Given the description of an element on the screen output the (x, y) to click on. 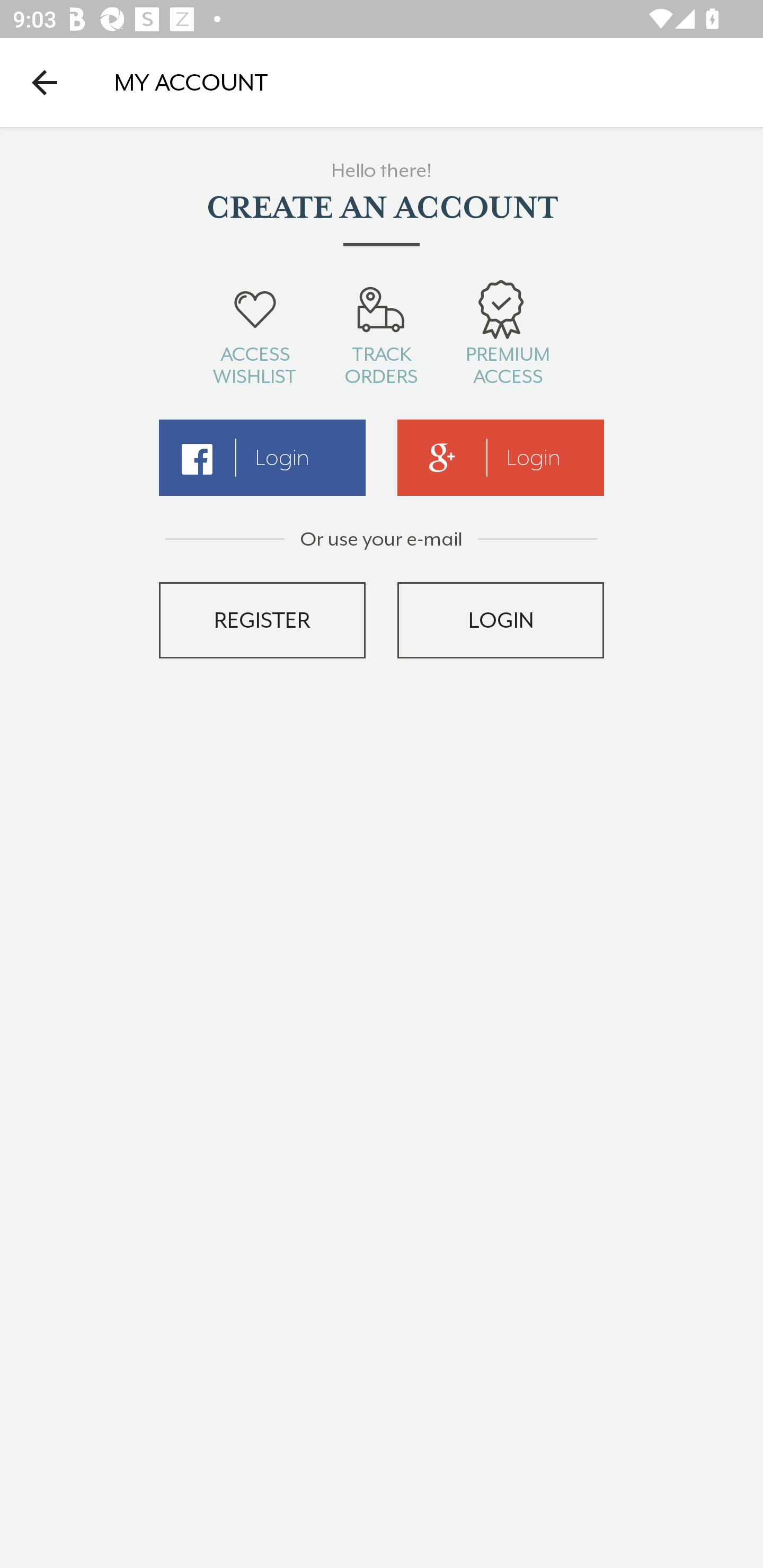
Navigate up (44, 82)
 Login (261, 457)
Login (500, 457)
REGISTER (261, 619)
LOGIN (500, 619)
